Given the description of an element on the screen output the (x, y) to click on. 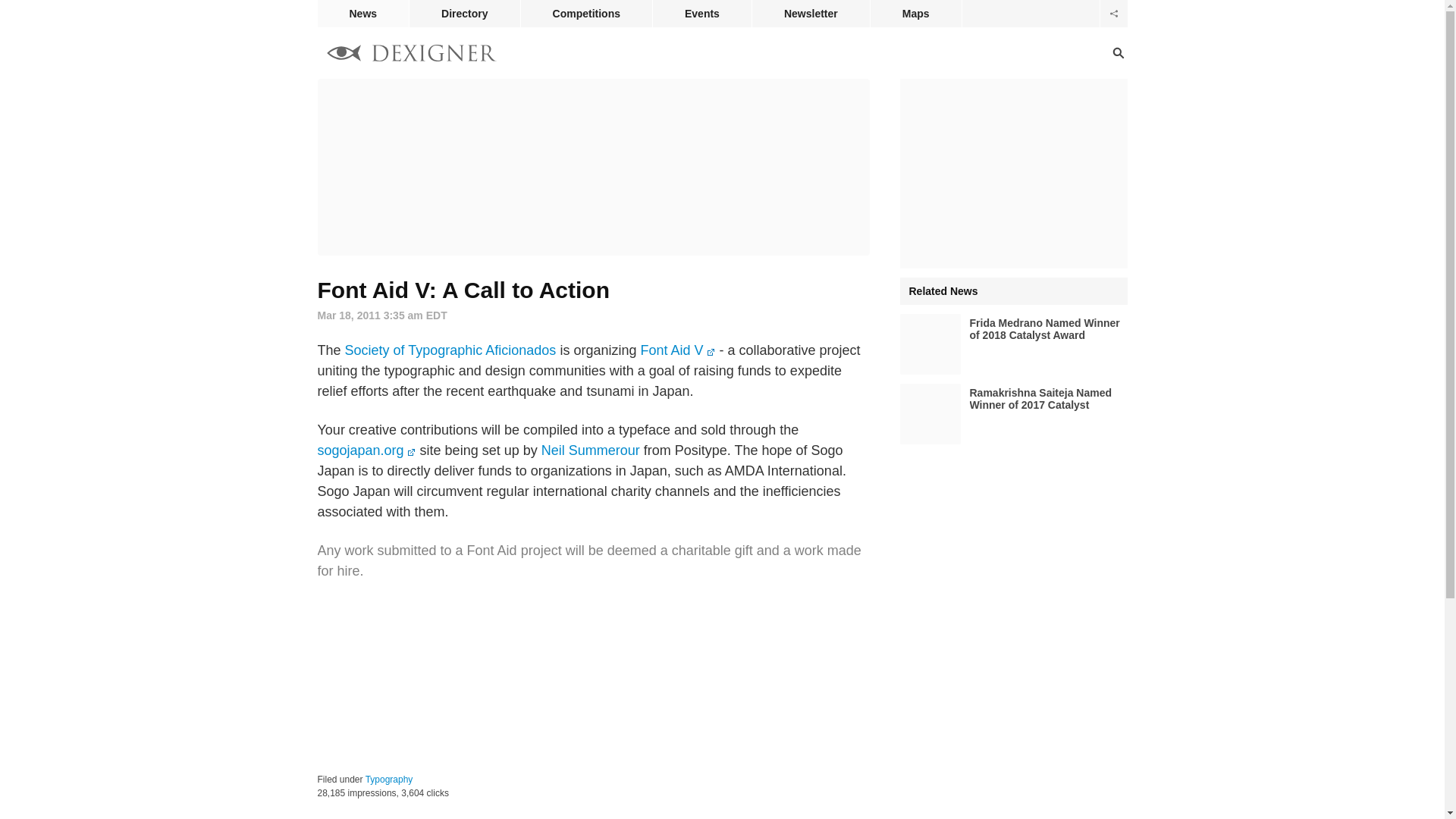
Society of Typographic Aficionados (450, 350)
Typography (389, 778)
Frida Medrano Named Winner of 2018 Catalyst Award (1012, 343)
Ramakrishna Saiteja Named Winner of 2017 Catalyst Award (1012, 414)
Competitions (586, 13)
Dexigner (411, 54)
sogojapan.org (365, 450)
News (363, 13)
follow dexigner (1112, 13)
Font Aid V (677, 350)
Neil Summerour (590, 450)
Events (701, 13)
Maps (915, 13)
Directory (464, 13)
Newsletter (810, 13)
